Given the description of an element on the screen output the (x, y) to click on. 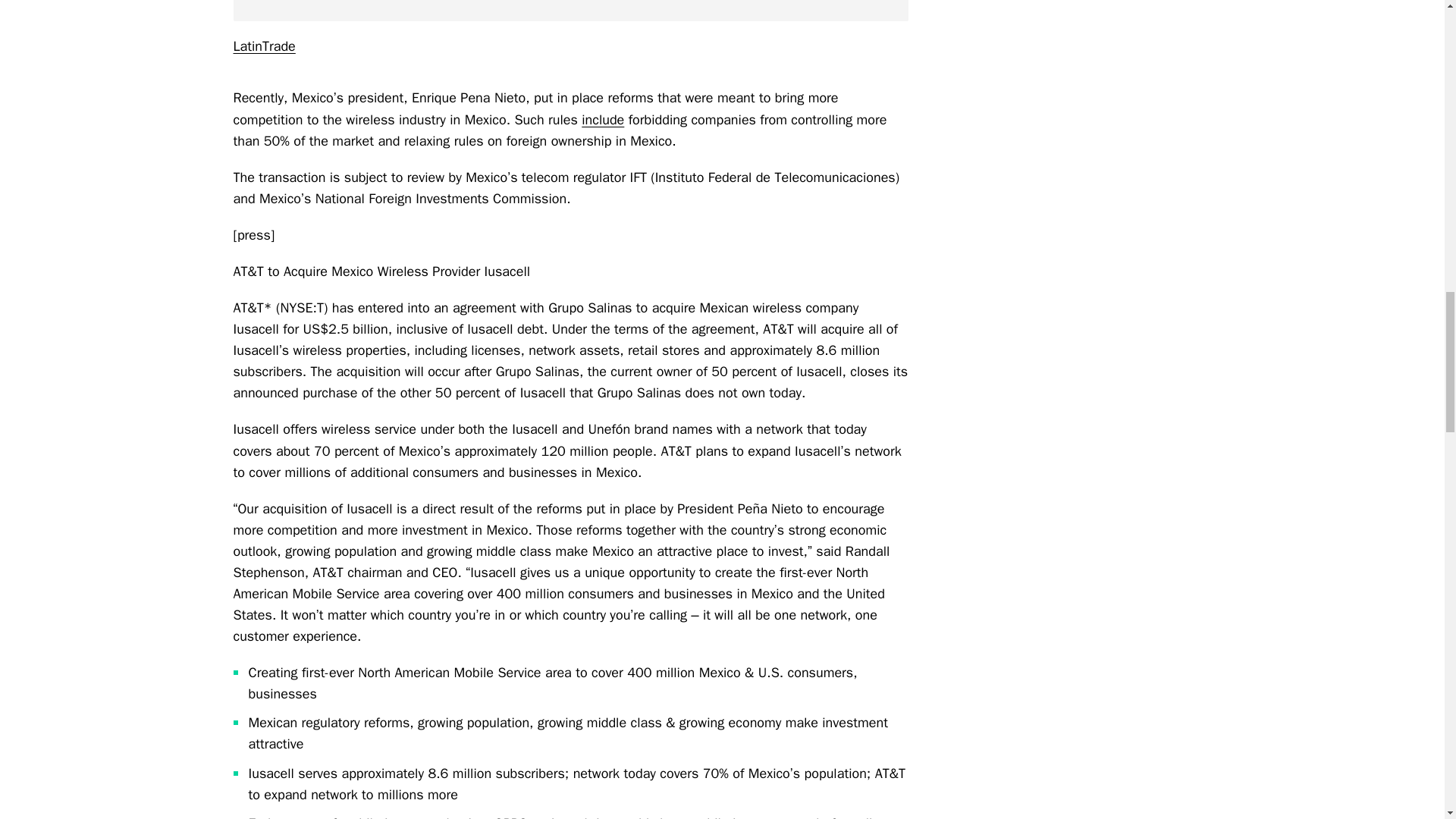
LatinTrade (263, 45)
MexicoLatinAmericaWireless (570, 10)
include (602, 119)
